Given the description of an element on the screen output the (x, y) to click on. 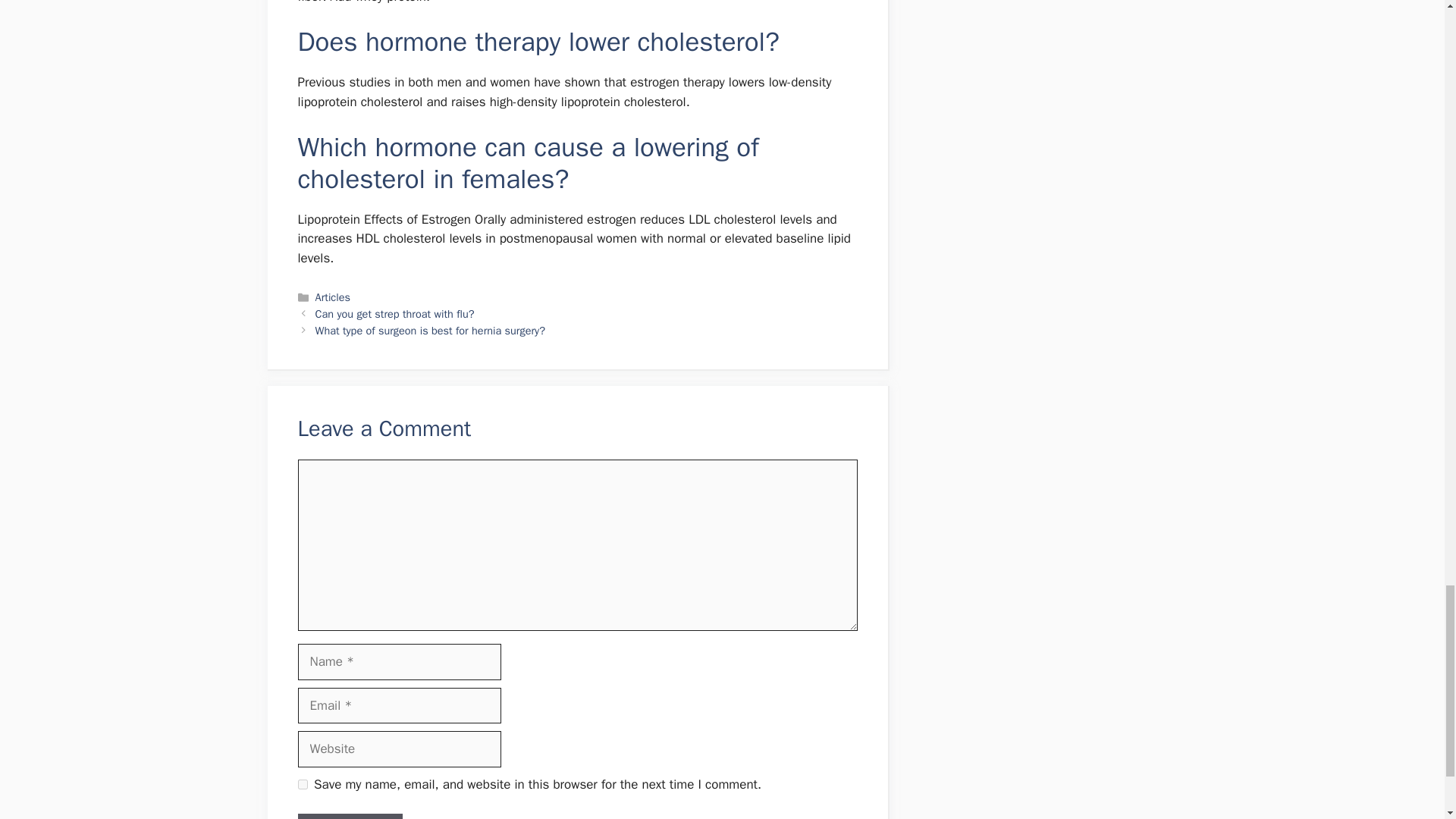
Can you get strep throat with flu? (394, 314)
Post Comment (349, 816)
Articles (332, 296)
yes (302, 784)
Post Comment (349, 816)
What type of surgeon is best for hernia surgery? (429, 330)
